Given the description of an element on the screen output the (x, y) to click on. 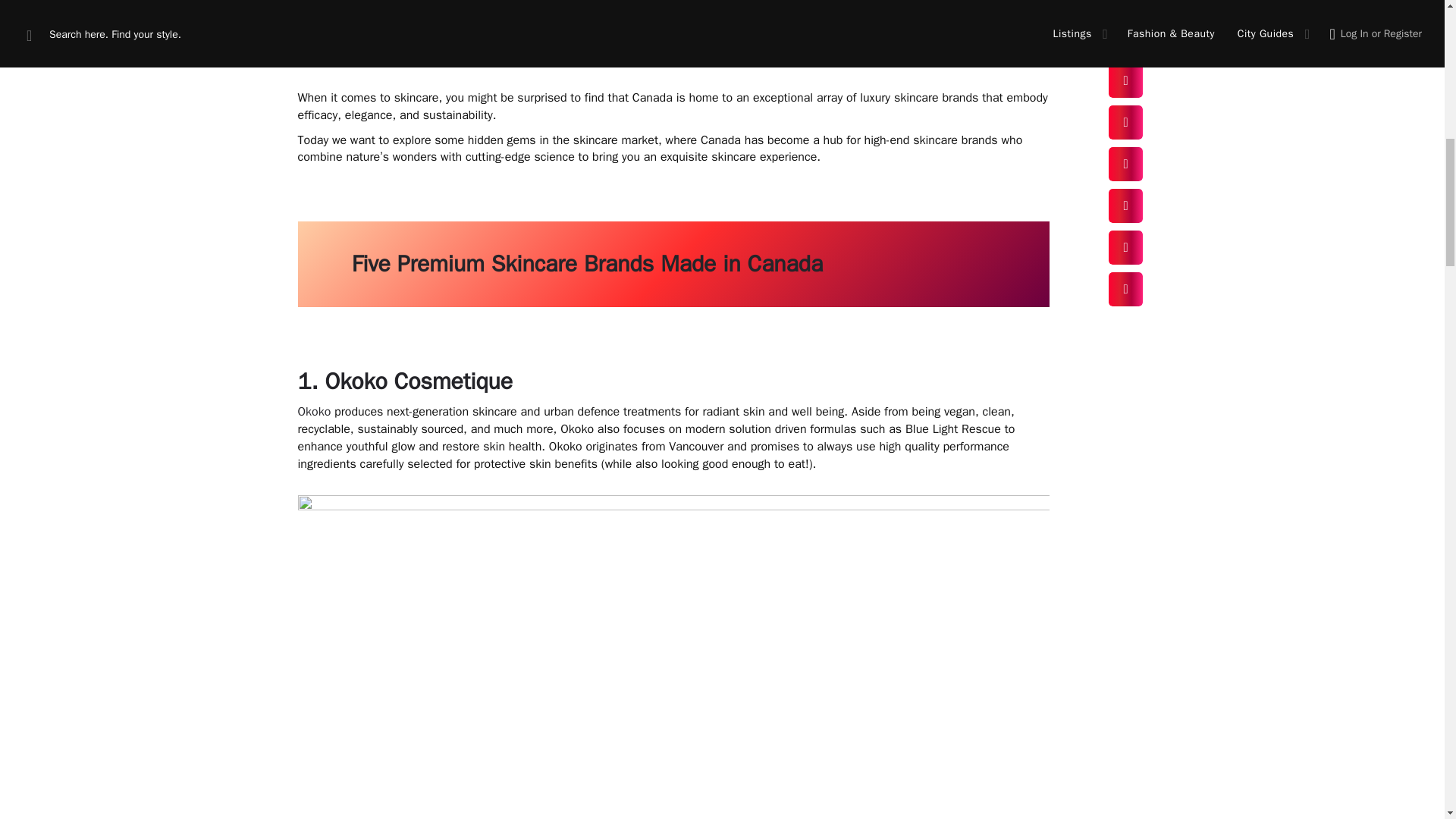
Okoko Cosmetique (418, 380)
Blog (396, 31)
Okoko (313, 411)
